Given the description of an element on the screen output the (x, y) to click on. 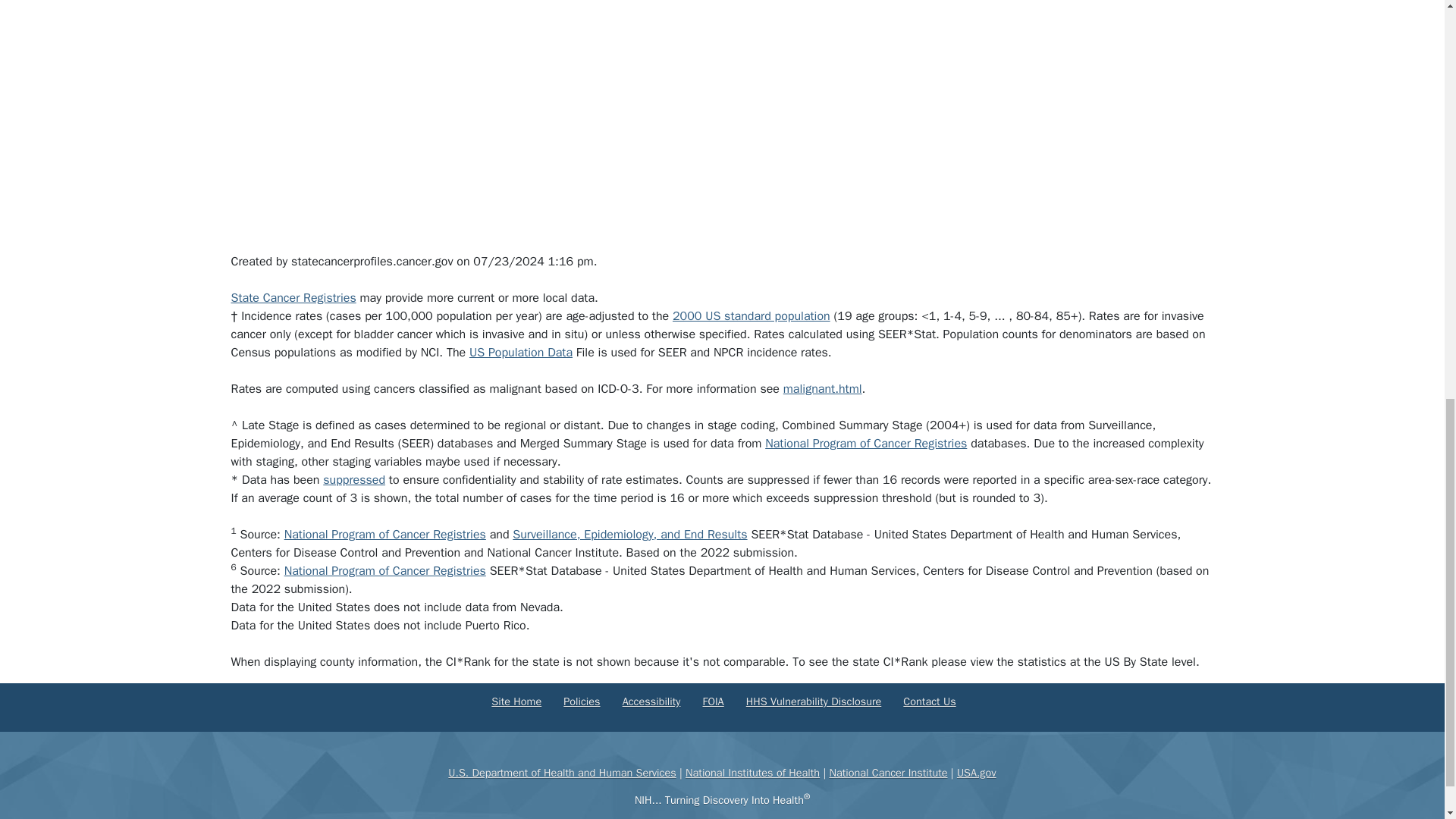
State Cancer Registries (292, 297)
Site Home (516, 701)
Surveillance, Epidemiology, and End Results (629, 534)
National Cancer Institute (887, 772)
U.S. Department of Health and Human Services (561, 772)
National Program of Cancer Registries (384, 534)
Policies (581, 701)
link to external State Cancer Registries (292, 297)
US Population Data (520, 352)
National Program of Cancer Registries (384, 570)
Accessibility (652, 701)
2000 US standard population (750, 315)
malignant.html (822, 388)
National Program of Cancer Registries (865, 443)
HHS Vulnerability Disclosure (812, 701)
